Given the description of an element on the screen output the (x, y) to click on. 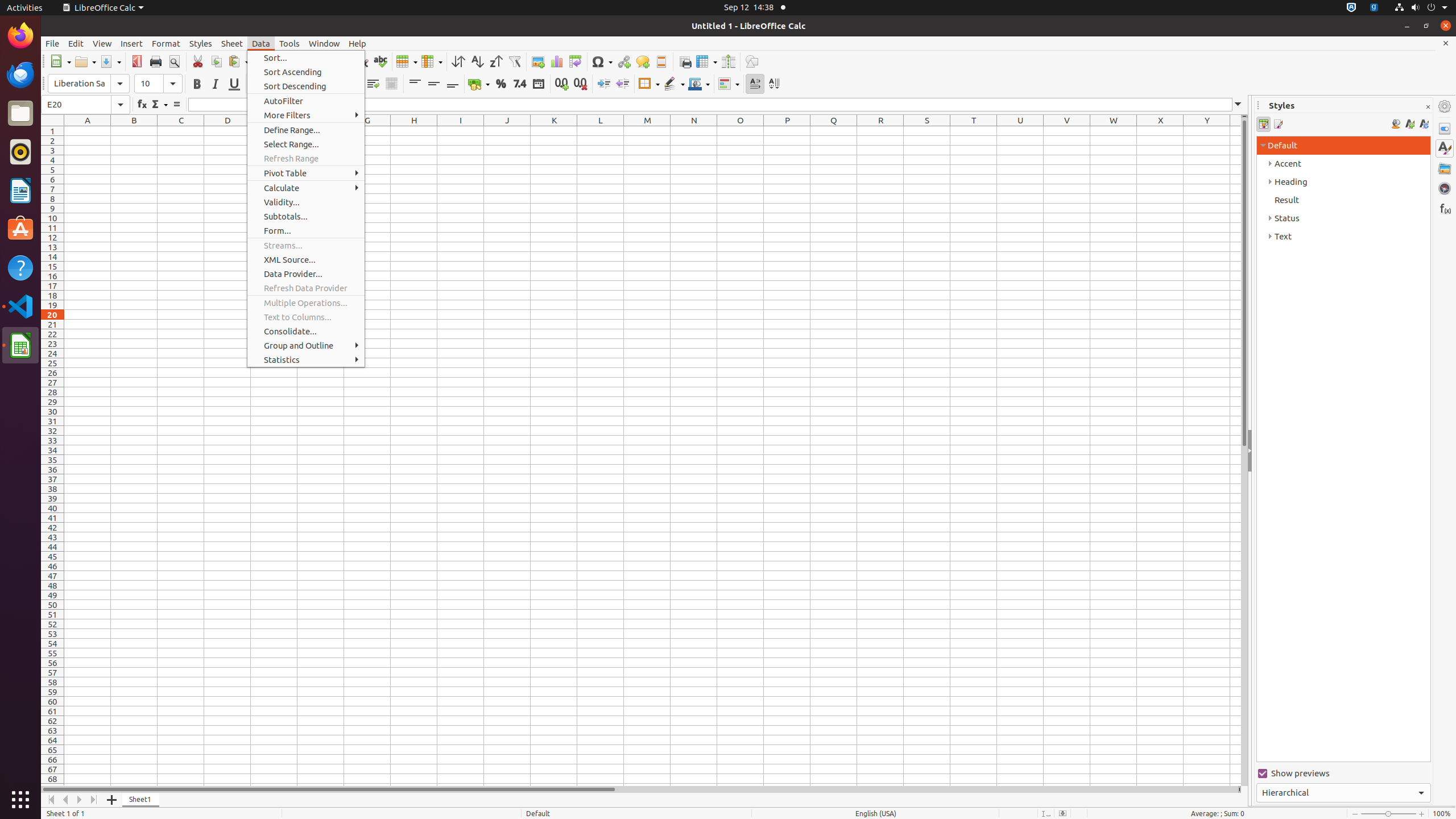
New Style from Selection Element type: push-button (1409, 123)
Center Vertically Element type: push-button (433, 83)
:1.21/StatusNotifierItem Element type: menu (1373, 7)
Function Wizard Element type: push-button (141, 104)
Increase Element type: push-button (603, 83)
